Given the description of an element on the screen output the (x, y) to click on. 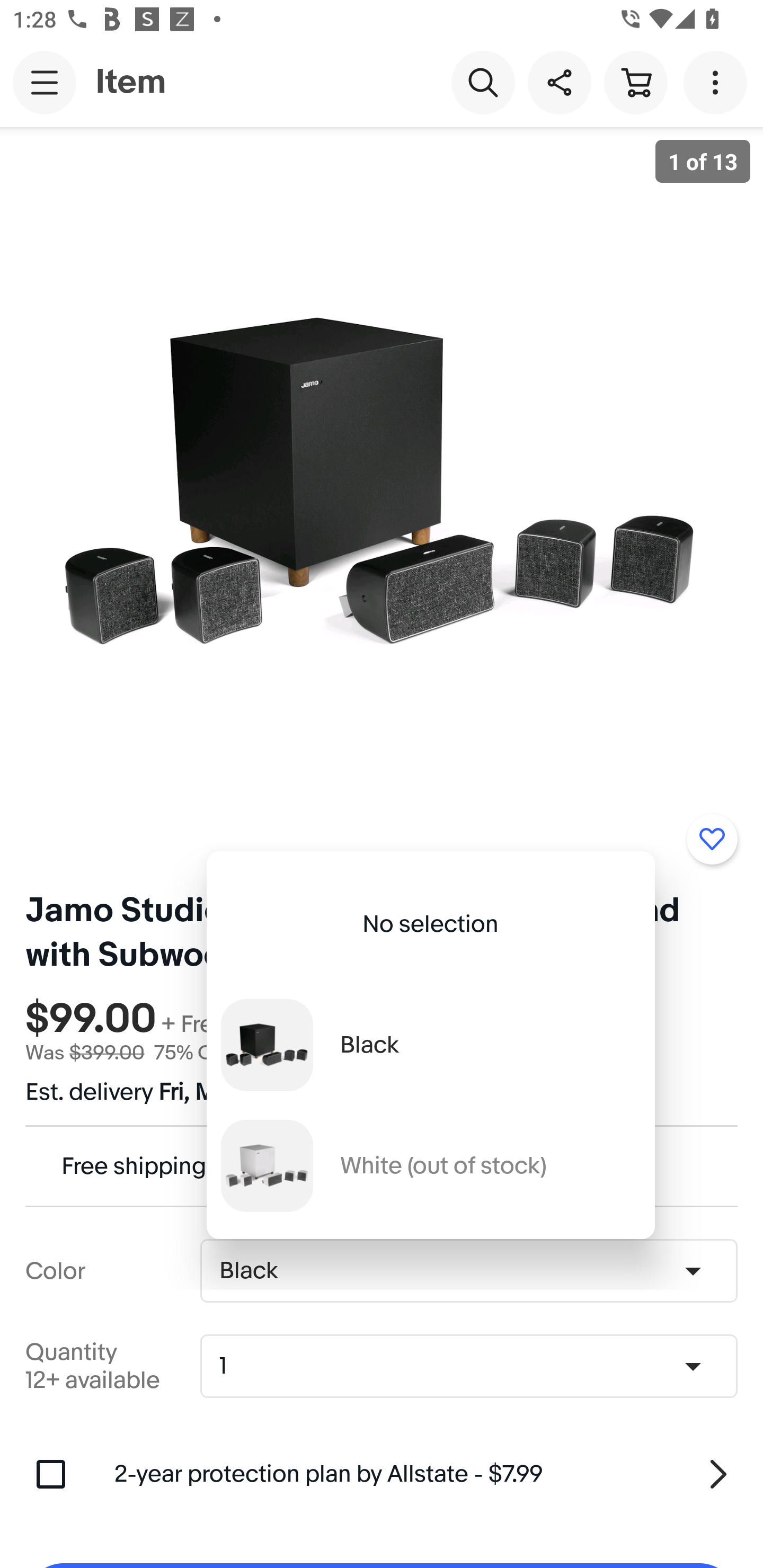
No selection (430, 923)
Black (430, 1044)
